Given the description of an element on the screen output the (x, y) to click on. 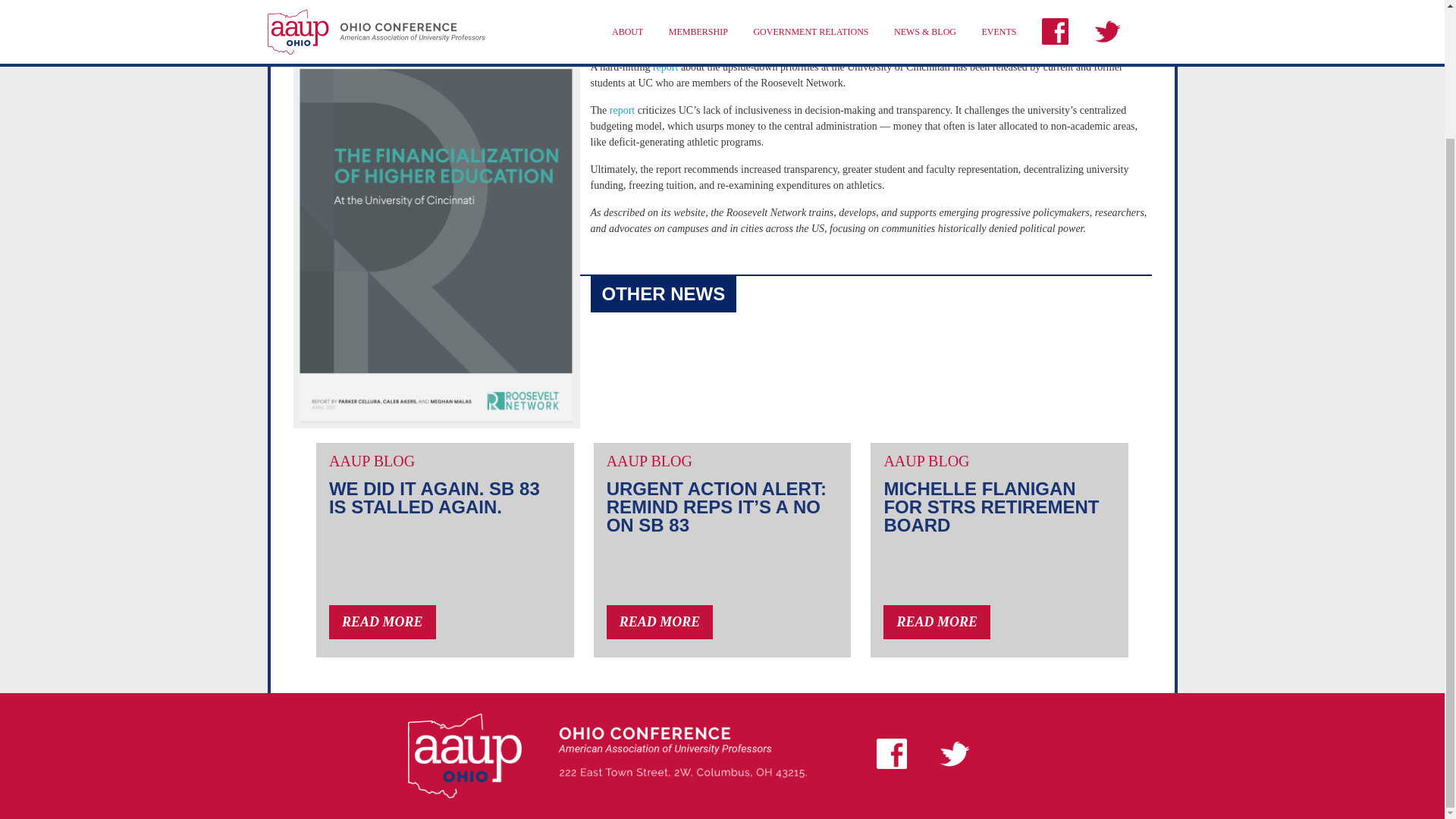
READ MORE (936, 622)
report (665, 66)
report (622, 110)
READ MORE (382, 622)
READ MORE (660, 622)
